Given the description of an element on the screen output the (x, y) to click on. 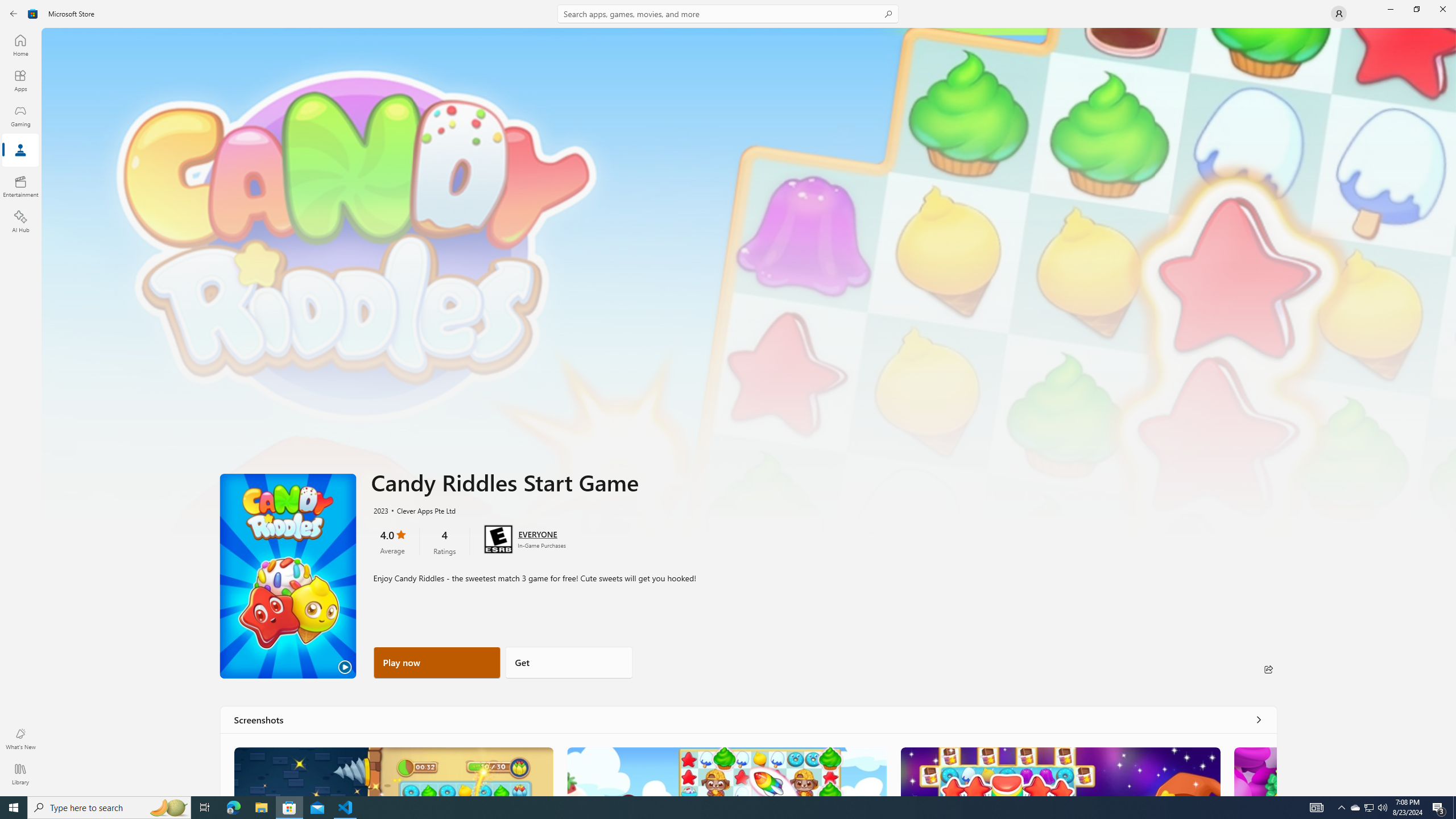
Apps (20, 80)
User profile (1338, 13)
Share (1267, 669)
What's New (20, 738)
Restore Microsoft Store (1416, 9)
Candy Riddles (393, 771)
Screenshot 4 (1254, 771)
2023 (379, 510)
Entertainment (20, 185)
Play Trailer (287, 575)
Screenshot 3 (1059, 771)
AI Hub (20, 221)
Minimize Microsoft Store (1390, 9)
Gaming (20, 115)
